Given the description of an element on the screen output the (x, y) to click on. 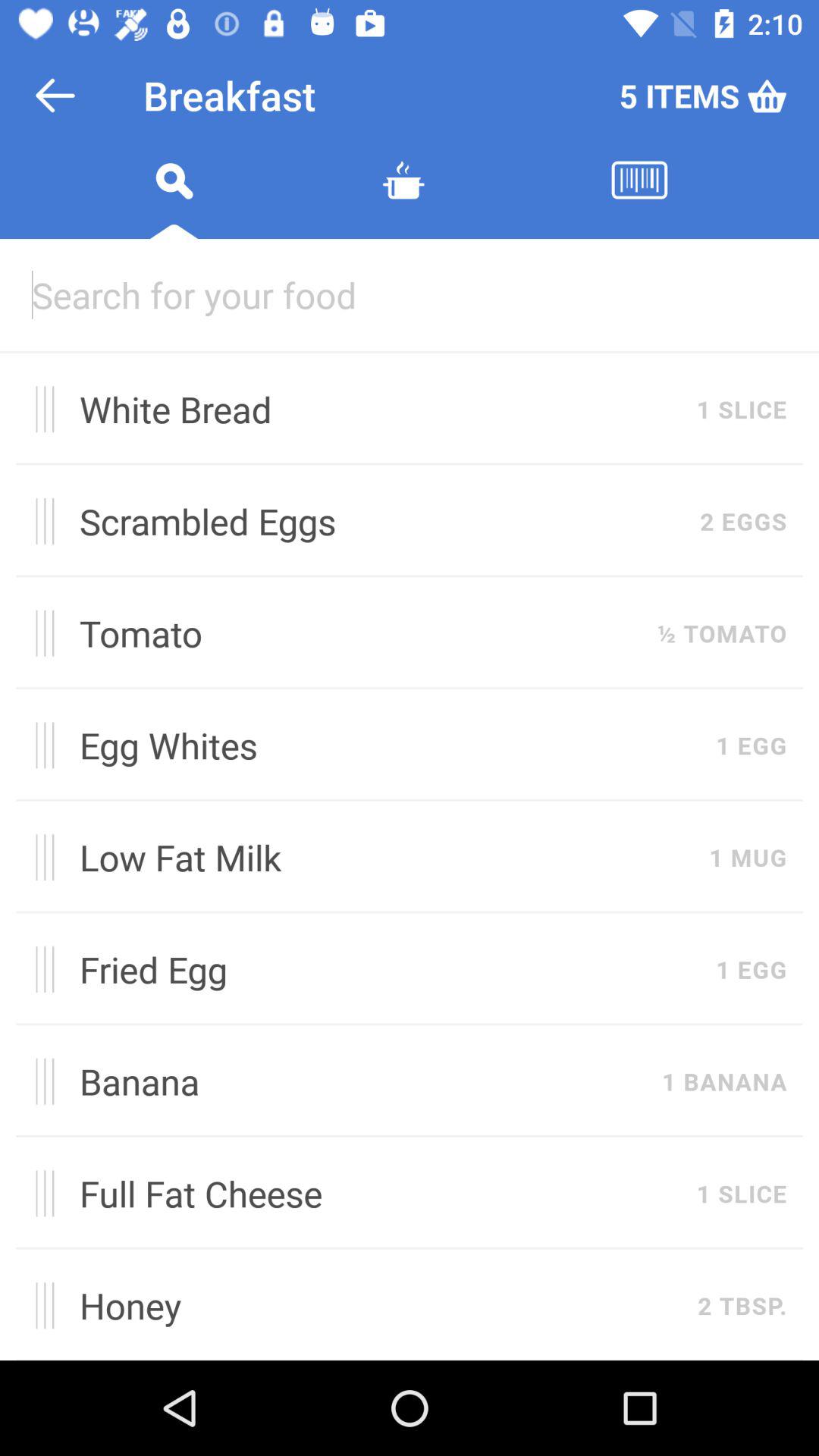
scroll to 1 mug (747, 857)
